Given the description of an element on the screen output the (x, y) to click on. 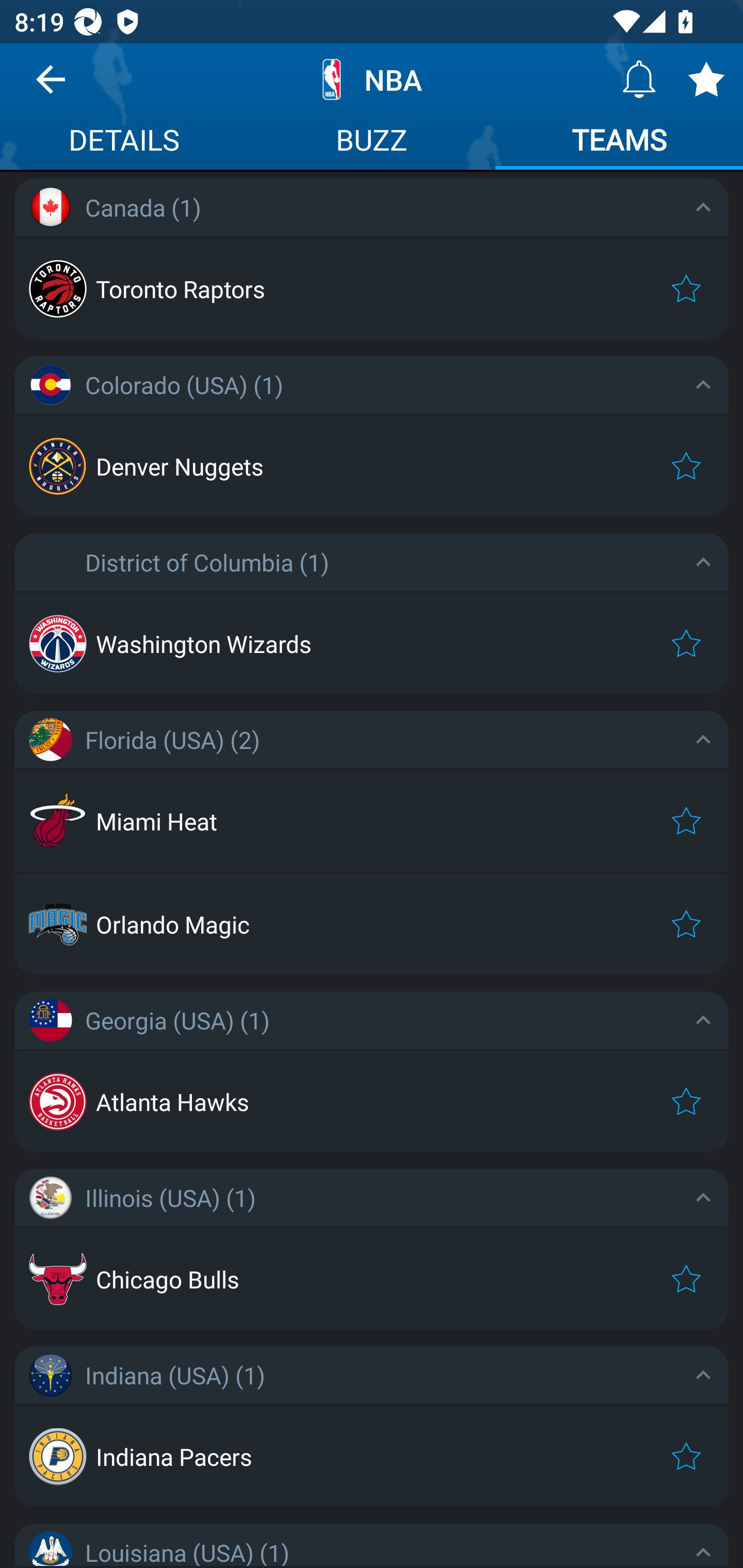
Navigate up (50, 86)
DETAILS (123, 142)
BUZZ (371, 142)
TEAMS (619, 142)
Canada (1) (371, 207)
Toronto Raptors (371, 288)
Colorado (USA) (1) (371, 384)
Denver Nuggets (371, 466)
District of Columbia (1) (371, 562)
Washington Wizards (371, 643)
Florida (USA) (2) (371, 739)
Miami Heat (371, 820)
Orlando Magic (371, 924)
Georgia (USA) (1) (371, 1019)
Atlanta Hawks (371, 1101)
Illinois (USA) (1) (371, 1197)
Chicago Bulls (371, 1279)
Indiana (USA) (1) (371, 1374)
Indiana Pacers (371, 1456)
Louisiana (USA) (1) (371, 1545)
